Given the description of an element on the screen output the (x, y) to click on. 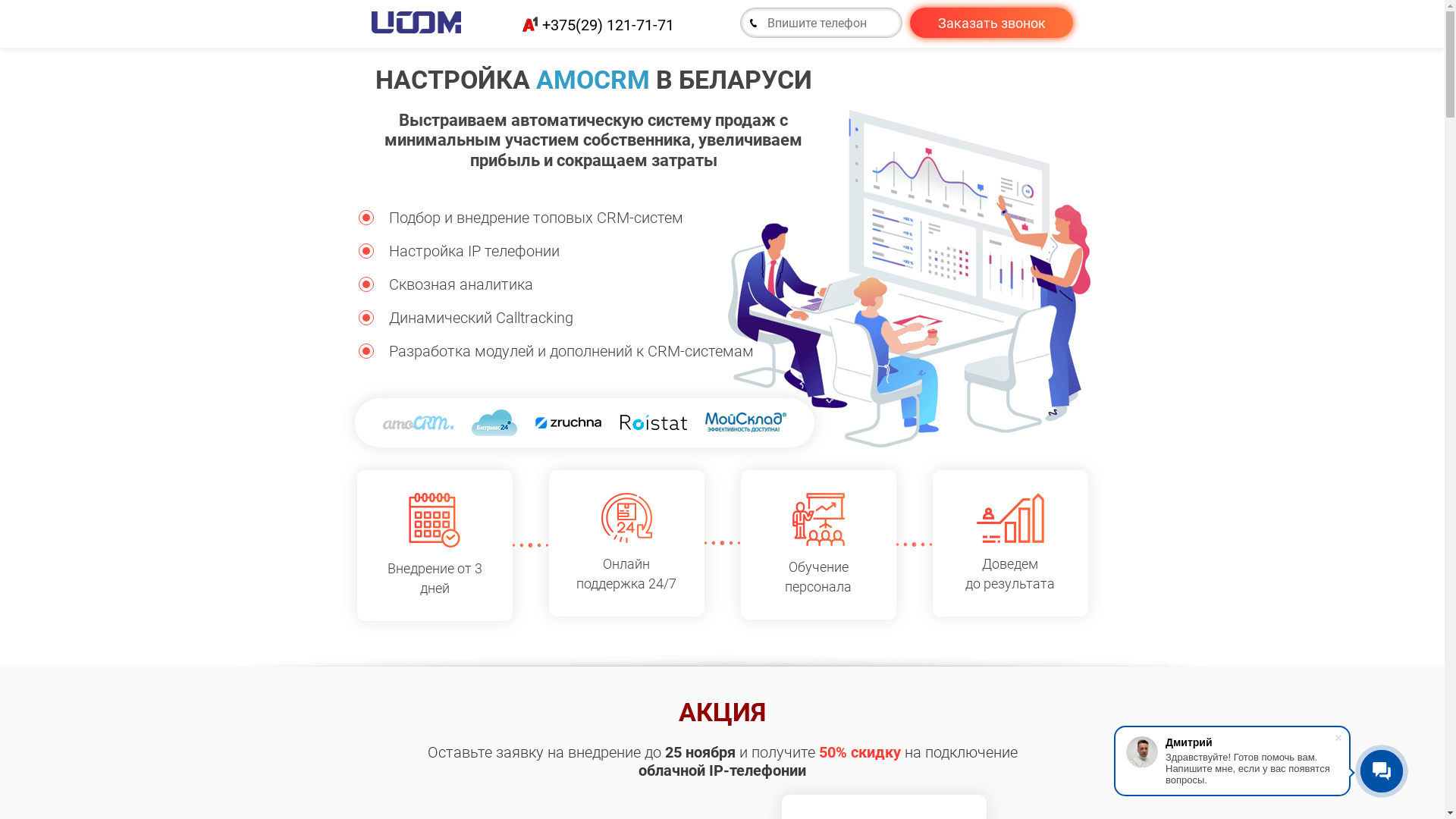
+375(29) 121-71-71 Element type: text (608, 24)
